Given the description of an element on the screen output the (x, y) to click on. 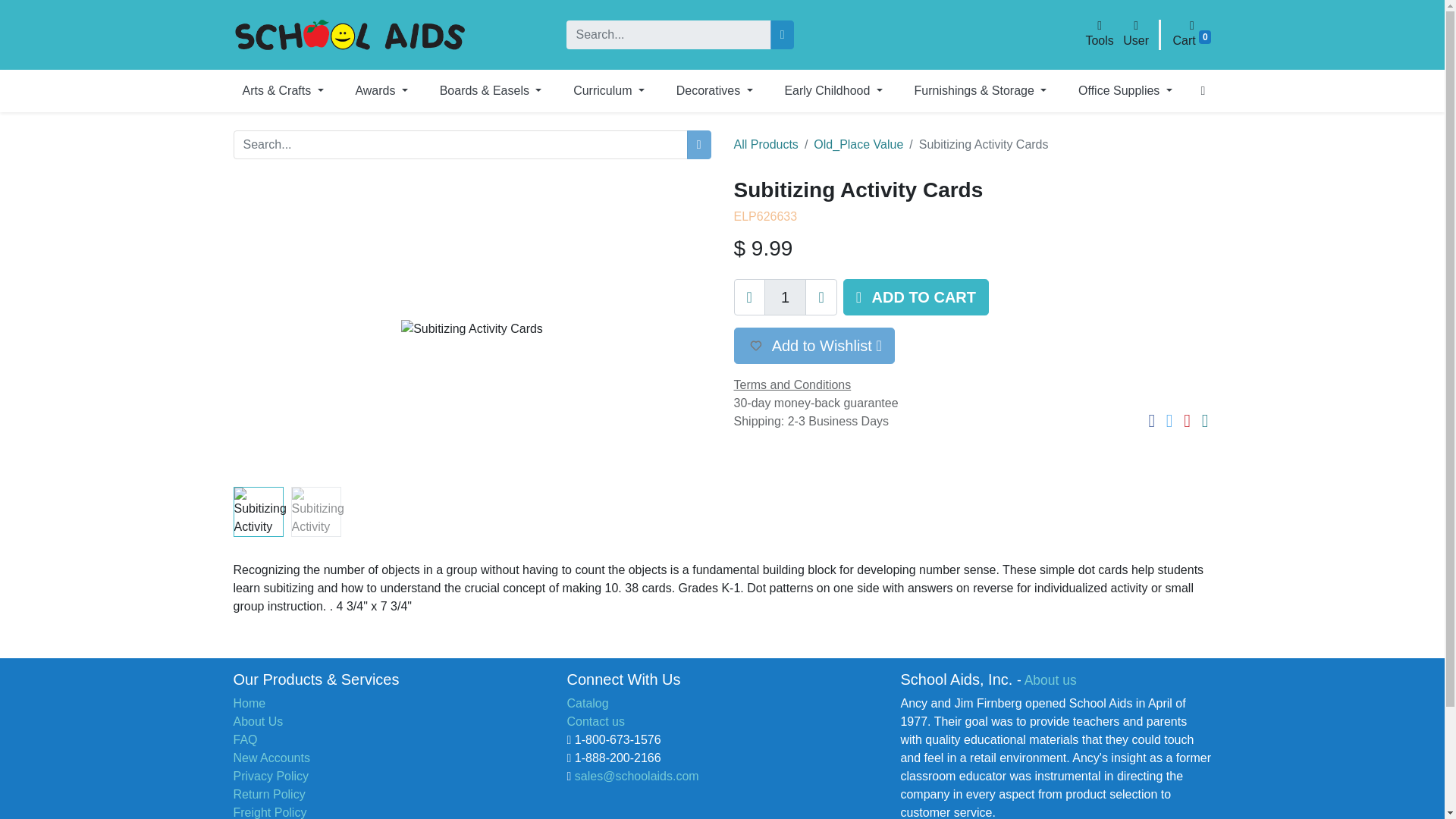
Cart 0 (1192, 32)
User (1135, 32)
1 (785, 297)
Tools (1098, 32)
School Aids (348, 34)
